Given the description of an element on the screen output the (x, y) to click on. 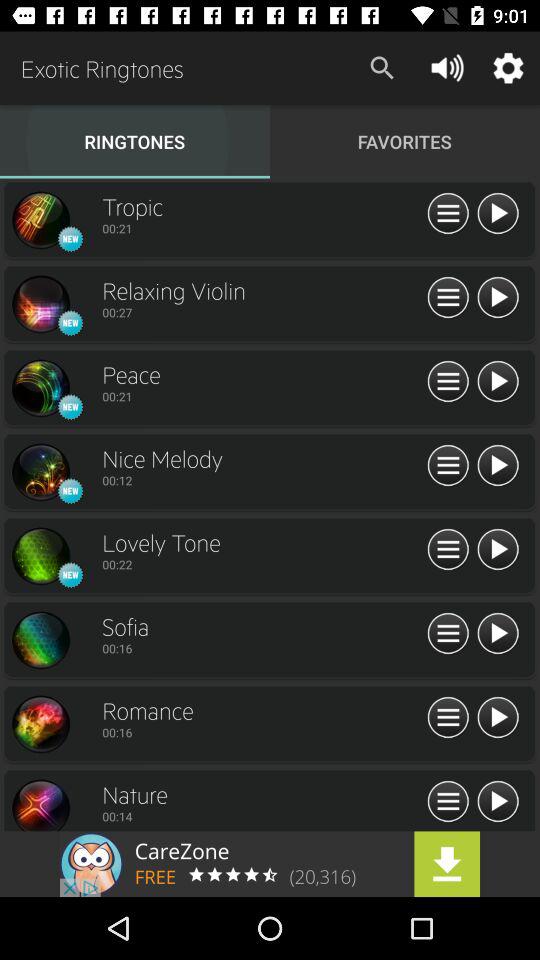
play (497, 465)
